Given the description of an element on the screen output the (x, y) to click on. 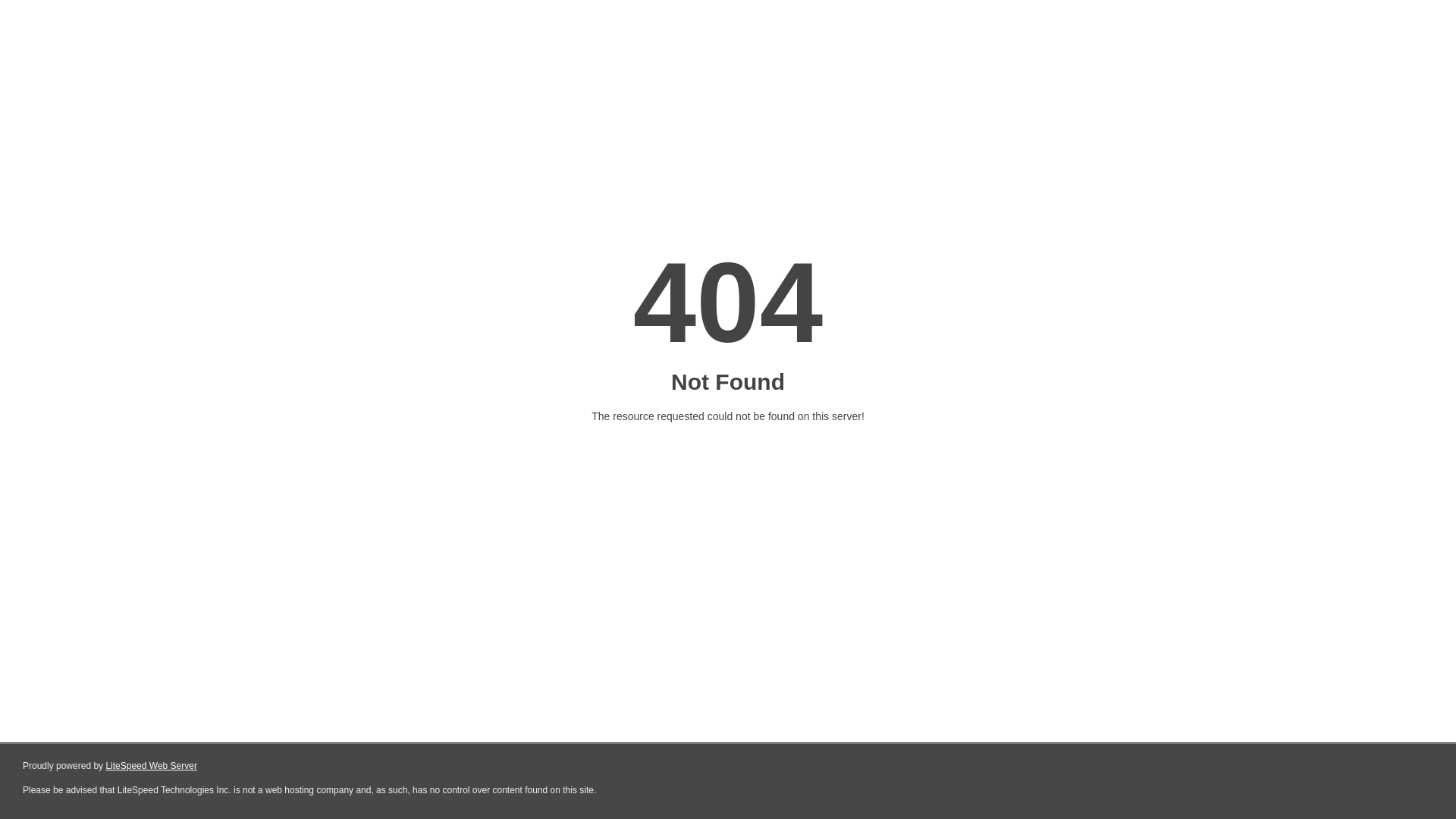
LiteSpeed Web Server Element type: text (151, 765)
